Given the description of an element on the screen output the (x, y) to click on. 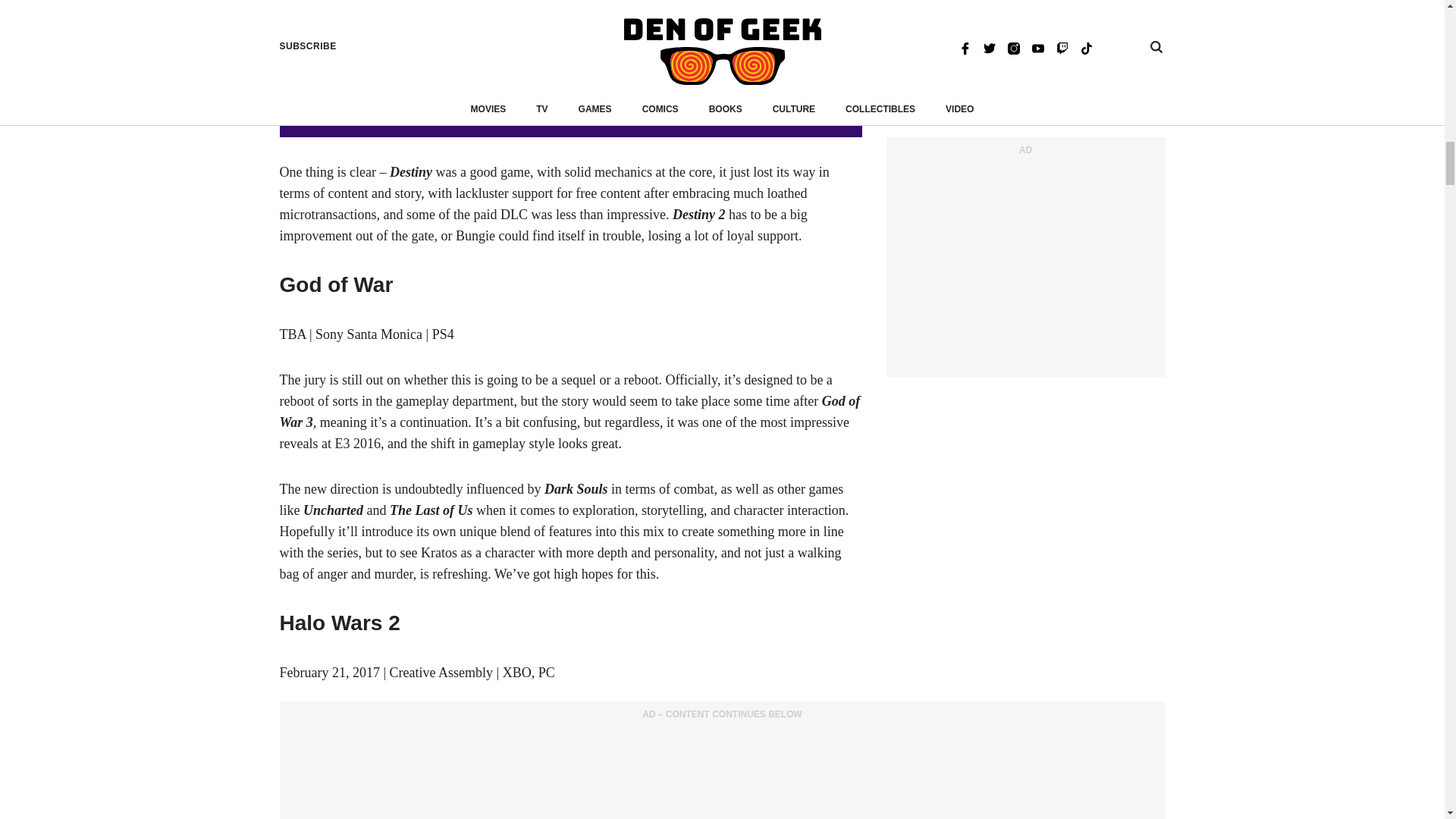
Subscribe (829, 88)
